Given the description of an element on the screen output the (x, y) to click on. 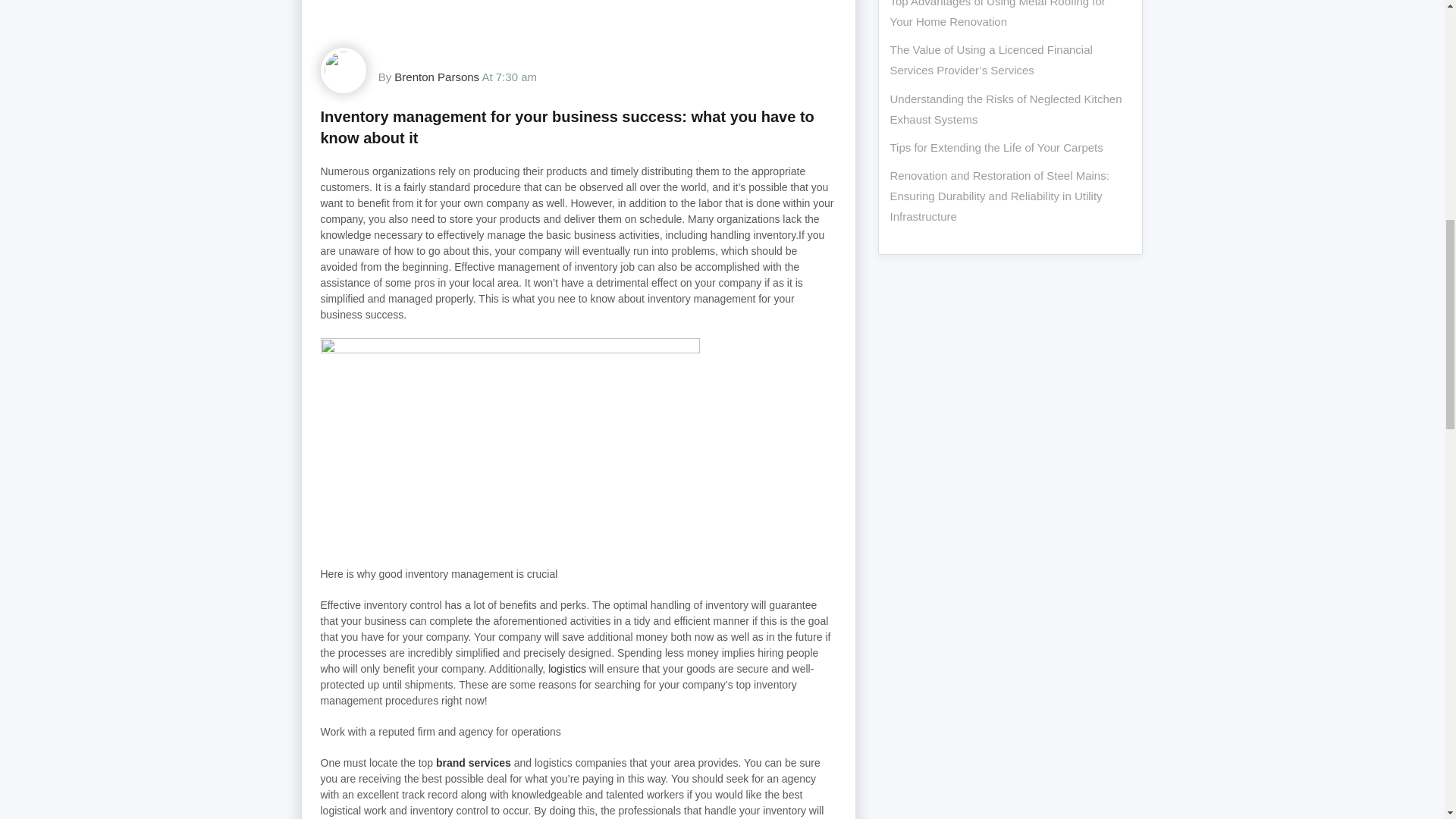
logistics (567, 668)
Understanding the Risks of Neglected Kitchen Exhaust Systems (1005, 109)
Brenton Parsons (436, 76)
Tips for Extending the Life of Your Carpets (996, 146)
brand services (473, 762)
